Given the description of an element on the screen output the (x, y) to click on. 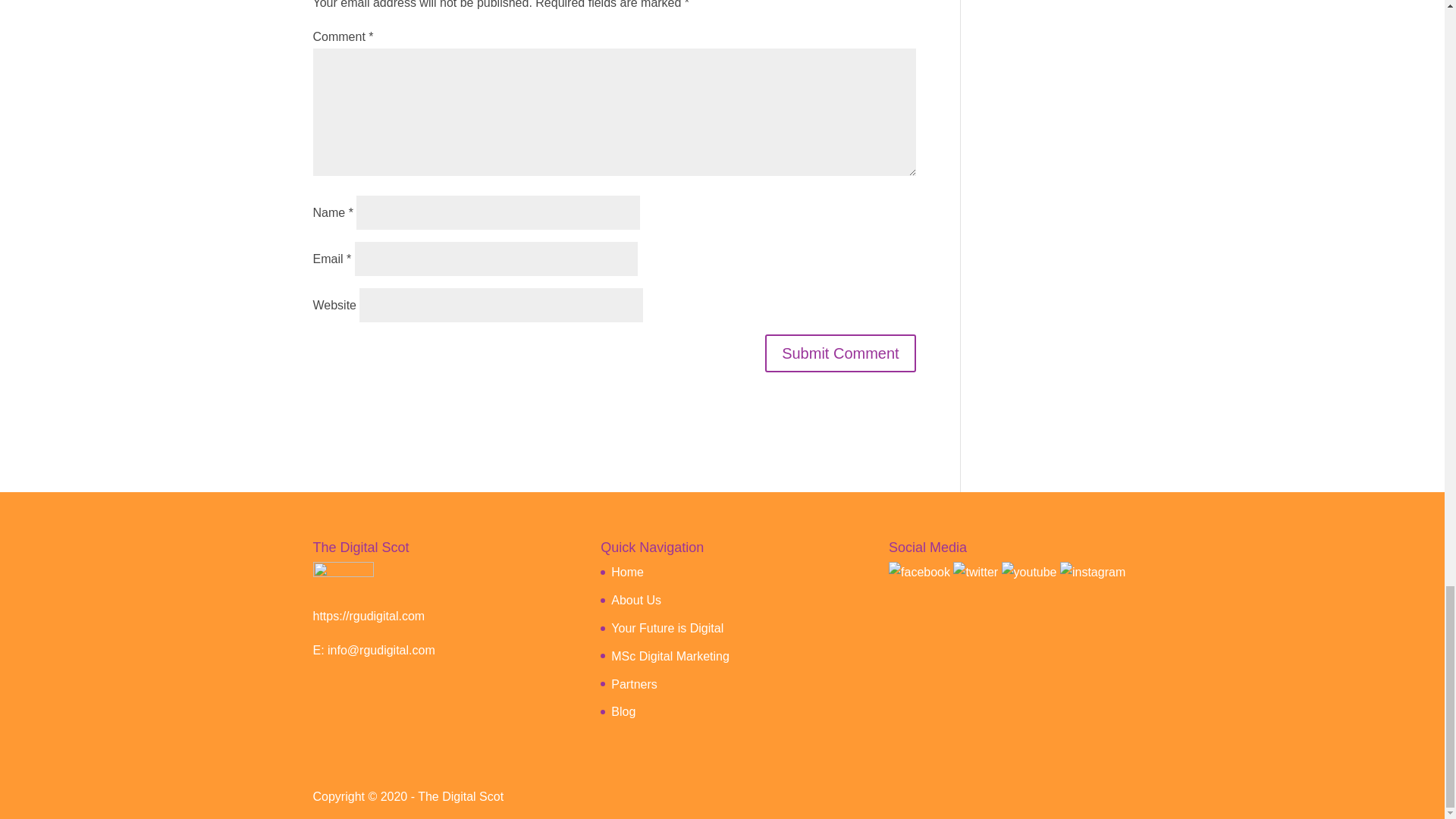
Submit Comment (840, 353)
Submit Comment (840, 353)
